Given the description of an element on the screen output the (x, y) to click on. 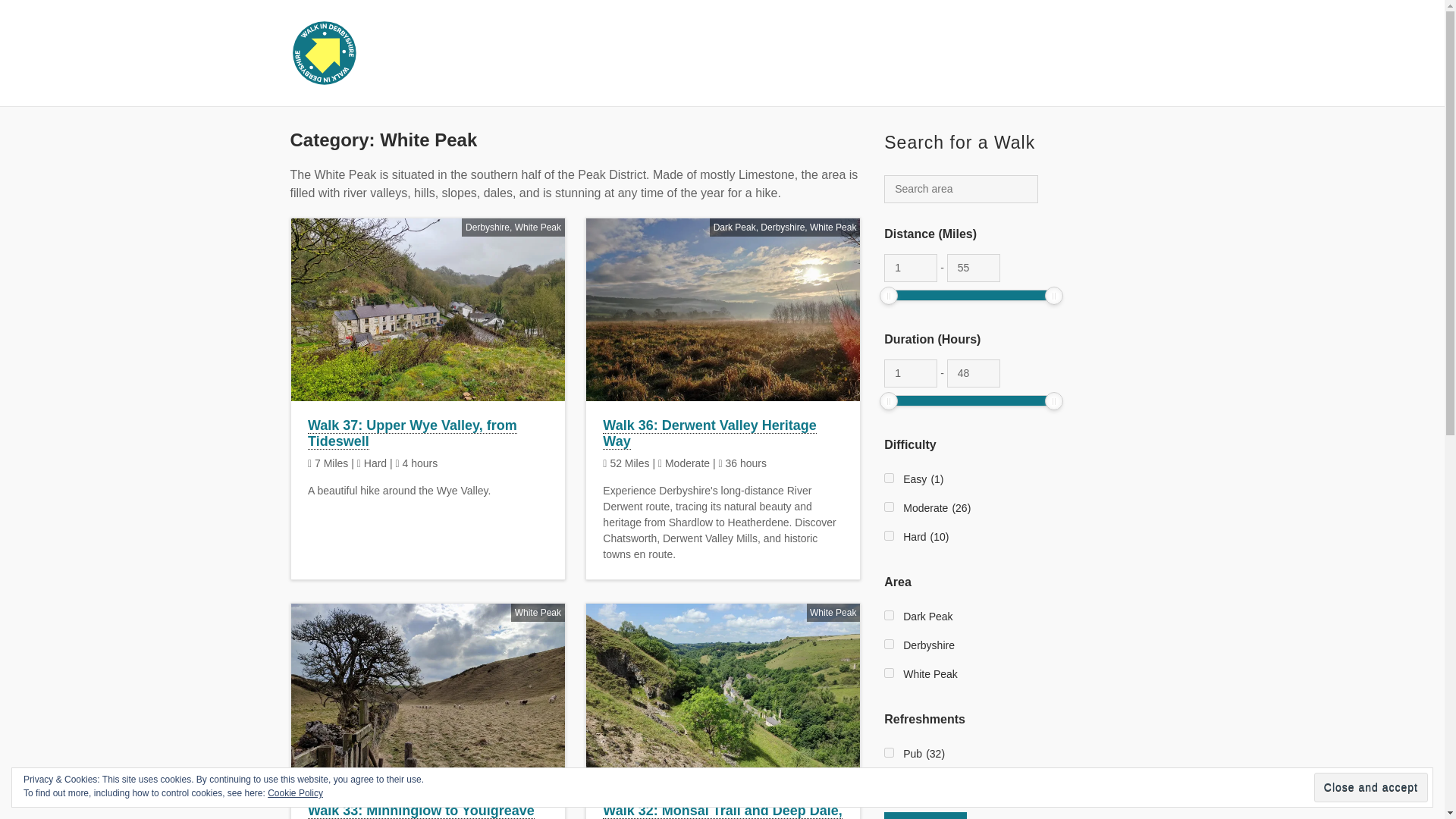
1 (910, 373)
Walk 32: Monsal Trail and Deep Dale, from Bakewell (721, 811)
Browse Routes (826, 54)
White Peak (832, 612)
Walk In Derbyshire (464, 52)
Cafe (888, 781)
white-peak (888, 672)
derbyshire (888, 643)
55 (973, 267)
White Peak (537, 226)
Close and accept (1371, 787)
White Peak (832, 226)
1 (910, 267)
White Peak (537, 612)
Derbyshire (782, 226)
